Given the description of an element on the screen output the (x, y) to click on. 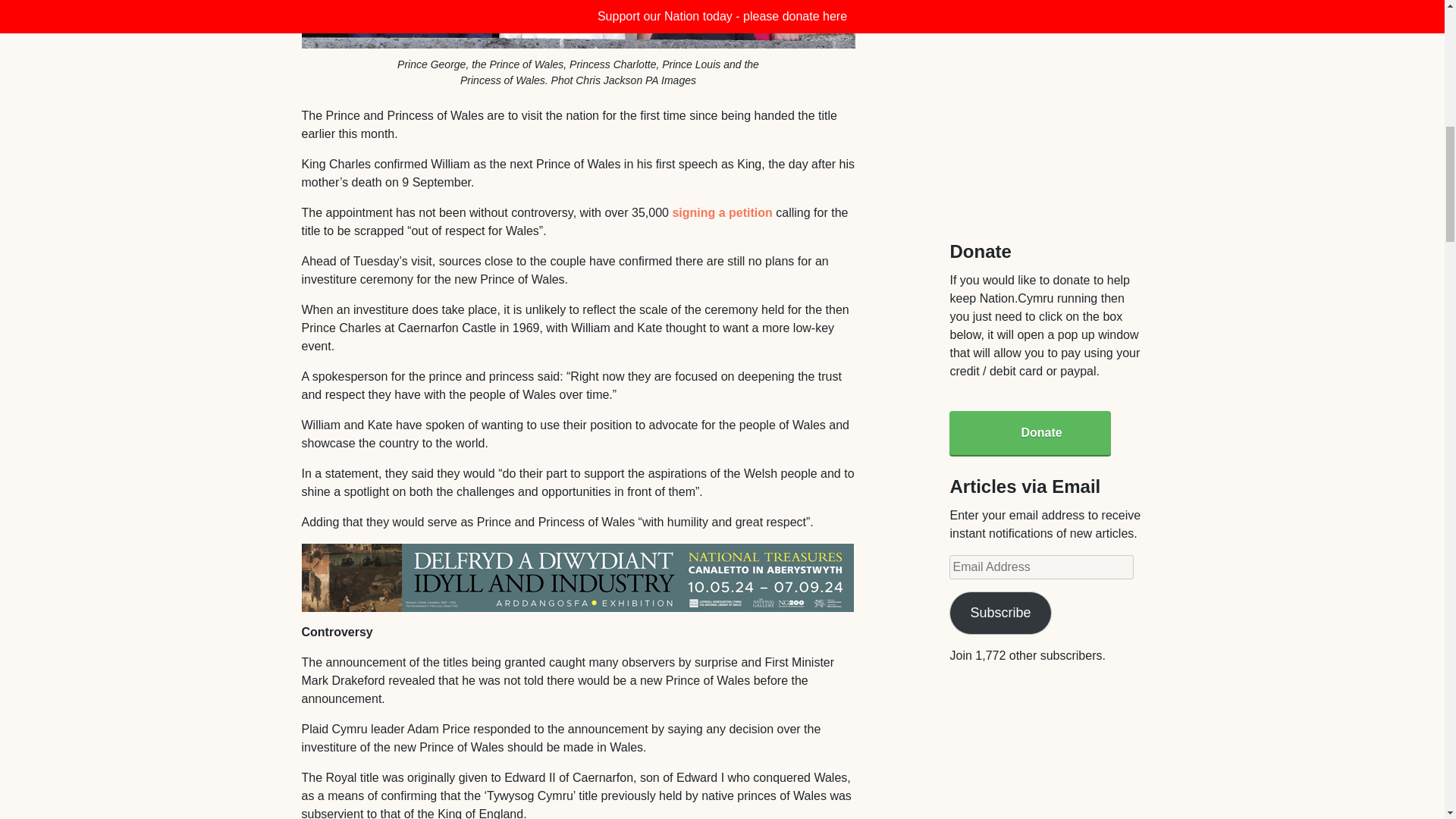
signing a petition (721, 212)
